Given the description of an element on the screen output the (x, y) to click on. 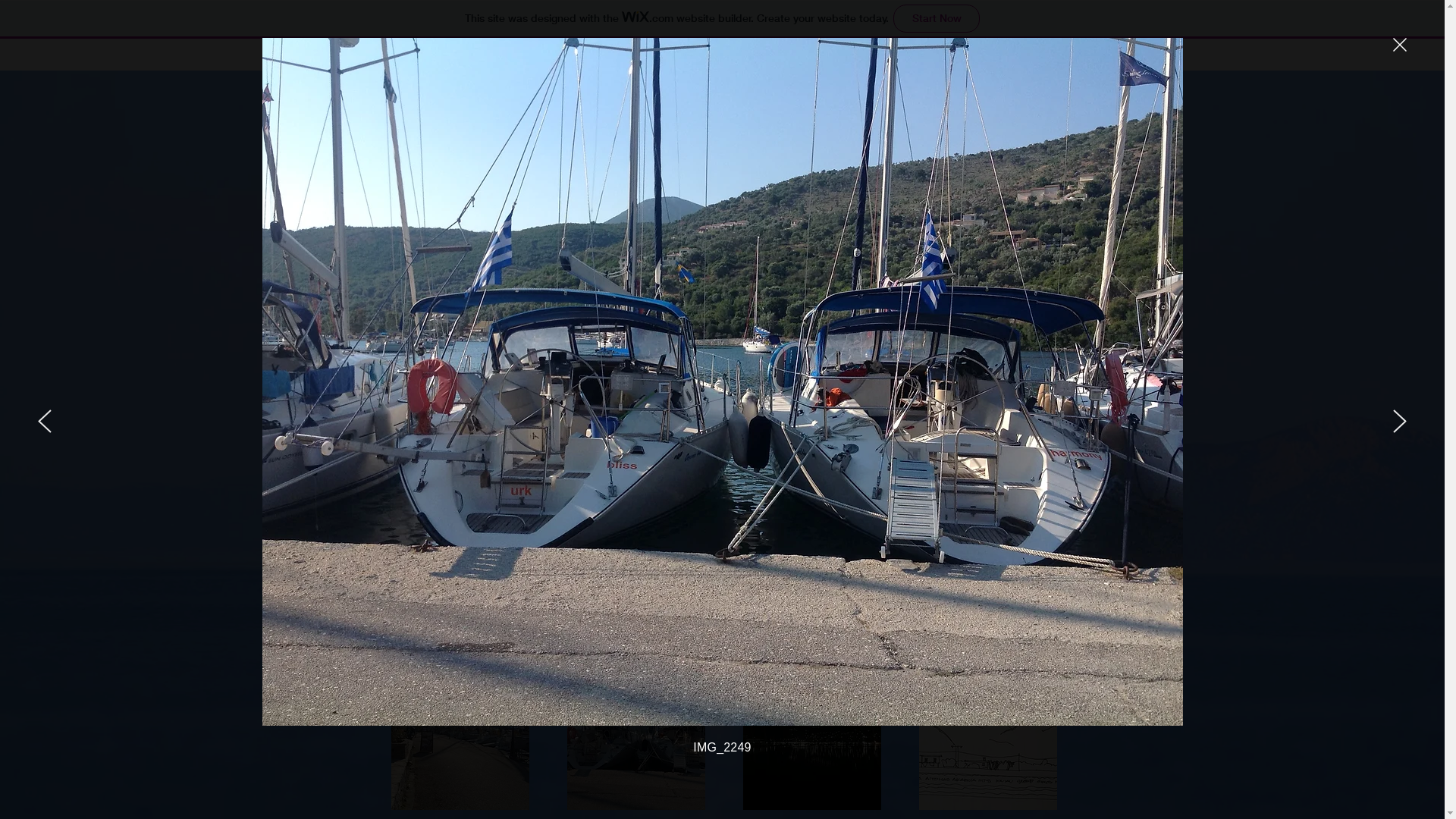
SHOP Element type: text (987, 58)
SUPARMADA Element type: text (471, 58)
BOOK LIFE STYLE COACHING Element type: text (596, 58)
WELCOME Element type: text (391, 58)
0 Element type: text (1060, 42)
KITE/SUP ADVENTURES Element type: text (893, 58)
KITE/SUP SAFARI GREECE Element type: text (752, 58)
